Given the description of an element on the screen output the (x, y) to click on. 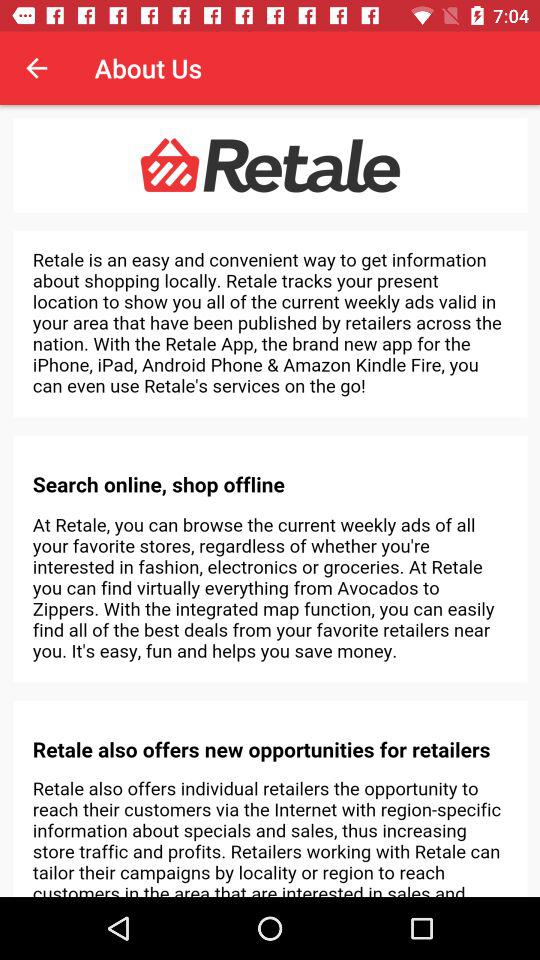
to go back (36, 68)
